Given the description of an element on the screen output the (x, y) to click on. 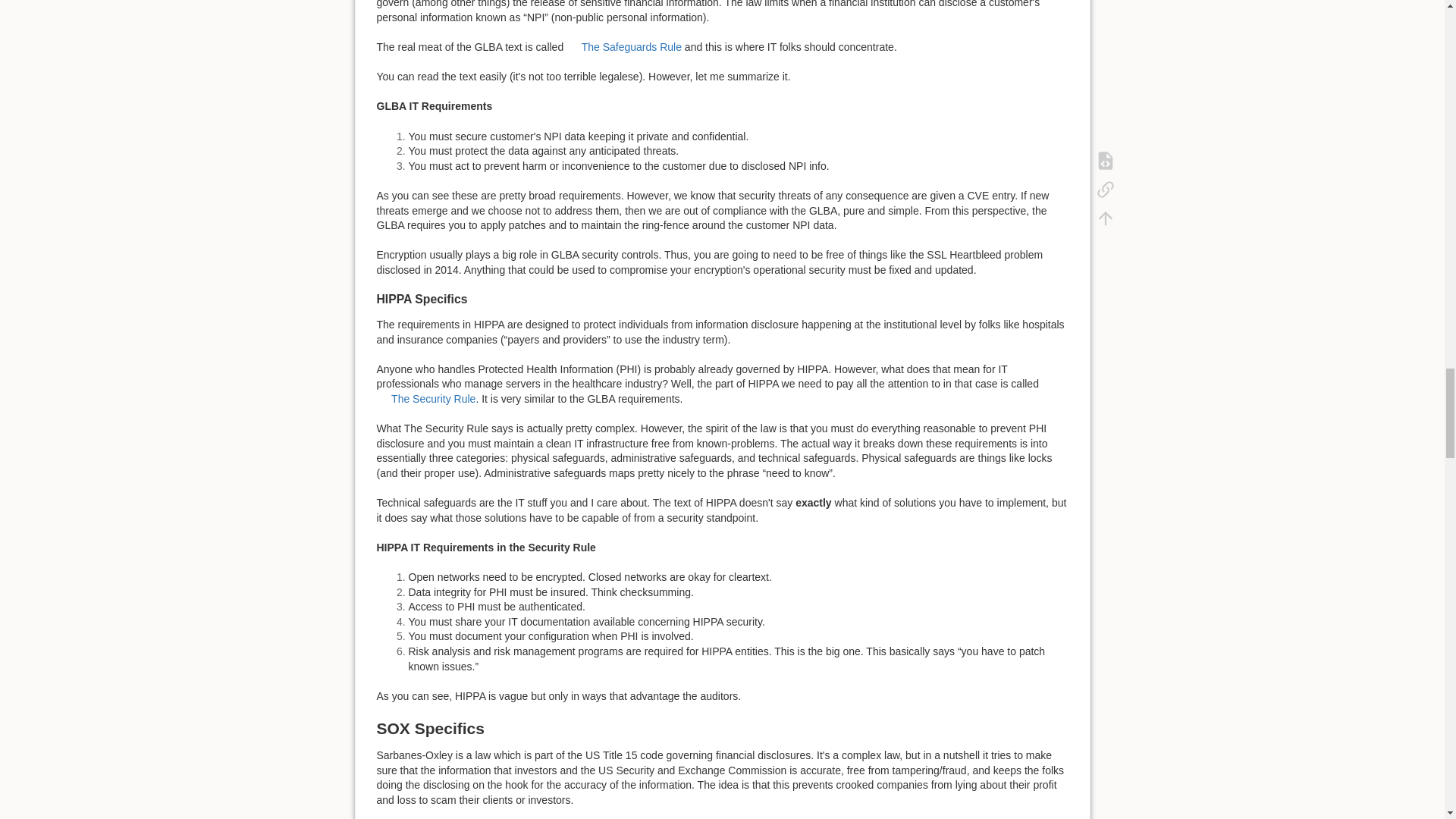
The Security Rule (425, 398)
The Safeguards Rule (623, 46)
